Given the description of an element on the screen output the (x, y) to click on. 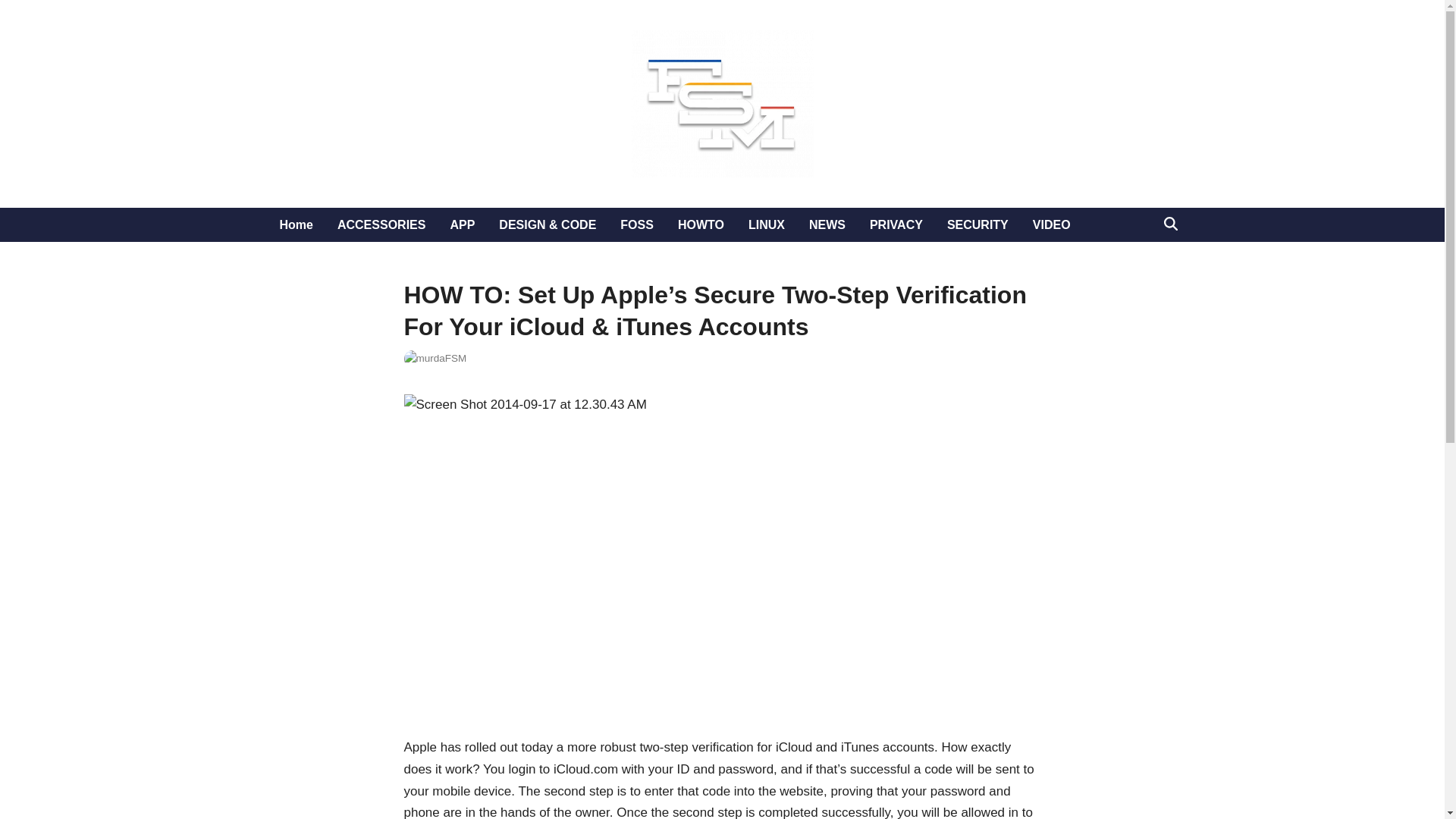
FOSS (636, 224)
APP (462, 224)
SECURITY (977, 224)
HOWTO (700, 224)
PRIVACY (895, 224)
LINUX (766, 224)
Home (295, 224)
ACCESSORIES (381, 224)
NEWS (826, 224)
VIDEO (1051, 224)
